Given the description of an element on the screen output the (x, y) to click on. 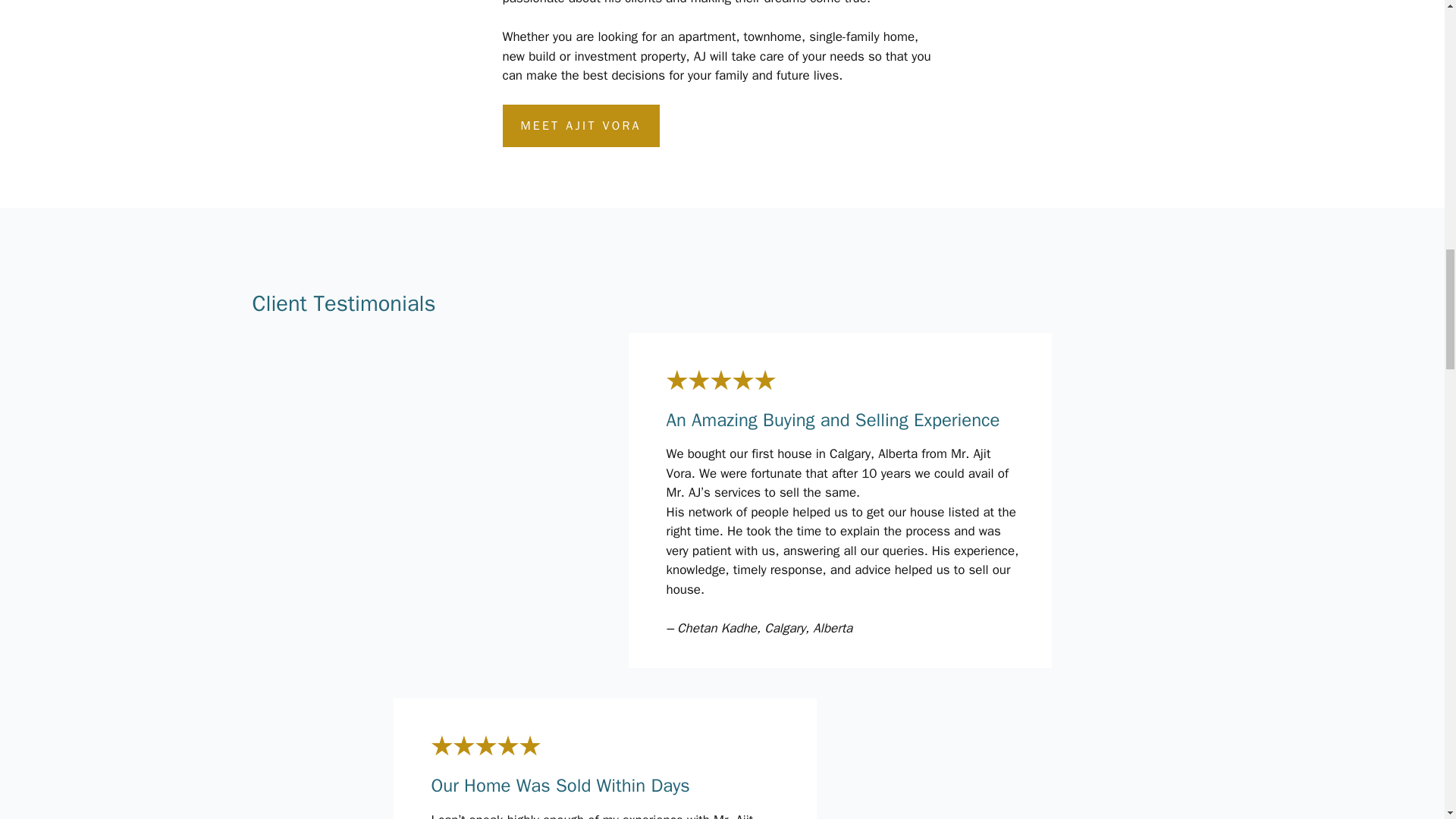
MEET AJIT VORA (580, 125)
MEET AJIT VORA (580, 125)
